Given the description of an element on the screen output the (x, y) to click on. 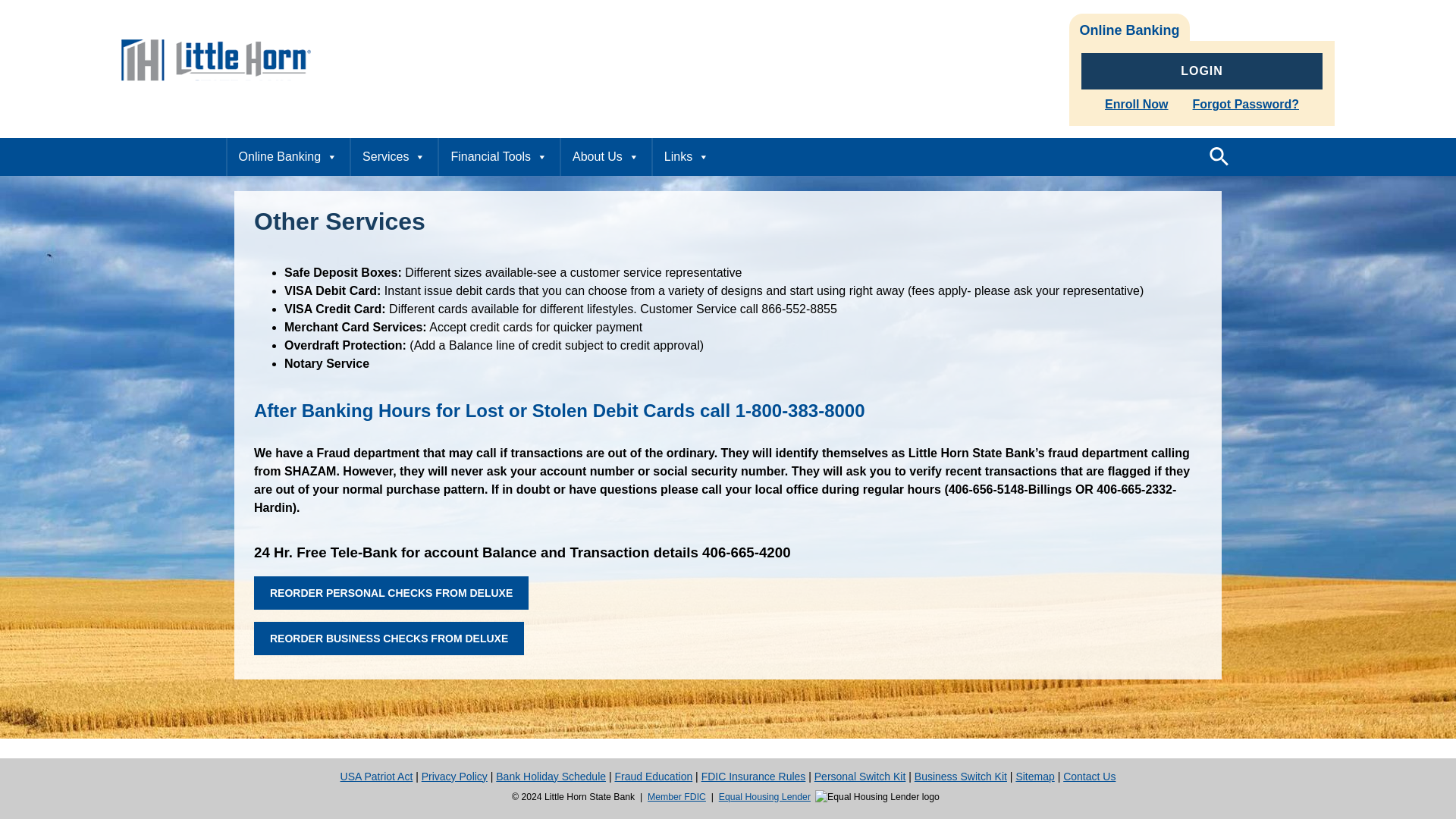
Forgot Password? (1245, 103)
FDIC Insurance Rules (753, 776)
REORDER PERSONAL CHECKS FROM DELUXE (390, 592)
Financial Tools (498, 157)
Privacy Policy (454, 776)
USA Patriot Act (376, 776)
LOGIN (1201, 71)
About Us (605, 157)
Business Switch Kit (960, 776)
Links (686, 157)
